Given the description of an element on the screen output the (x, y) to click on. 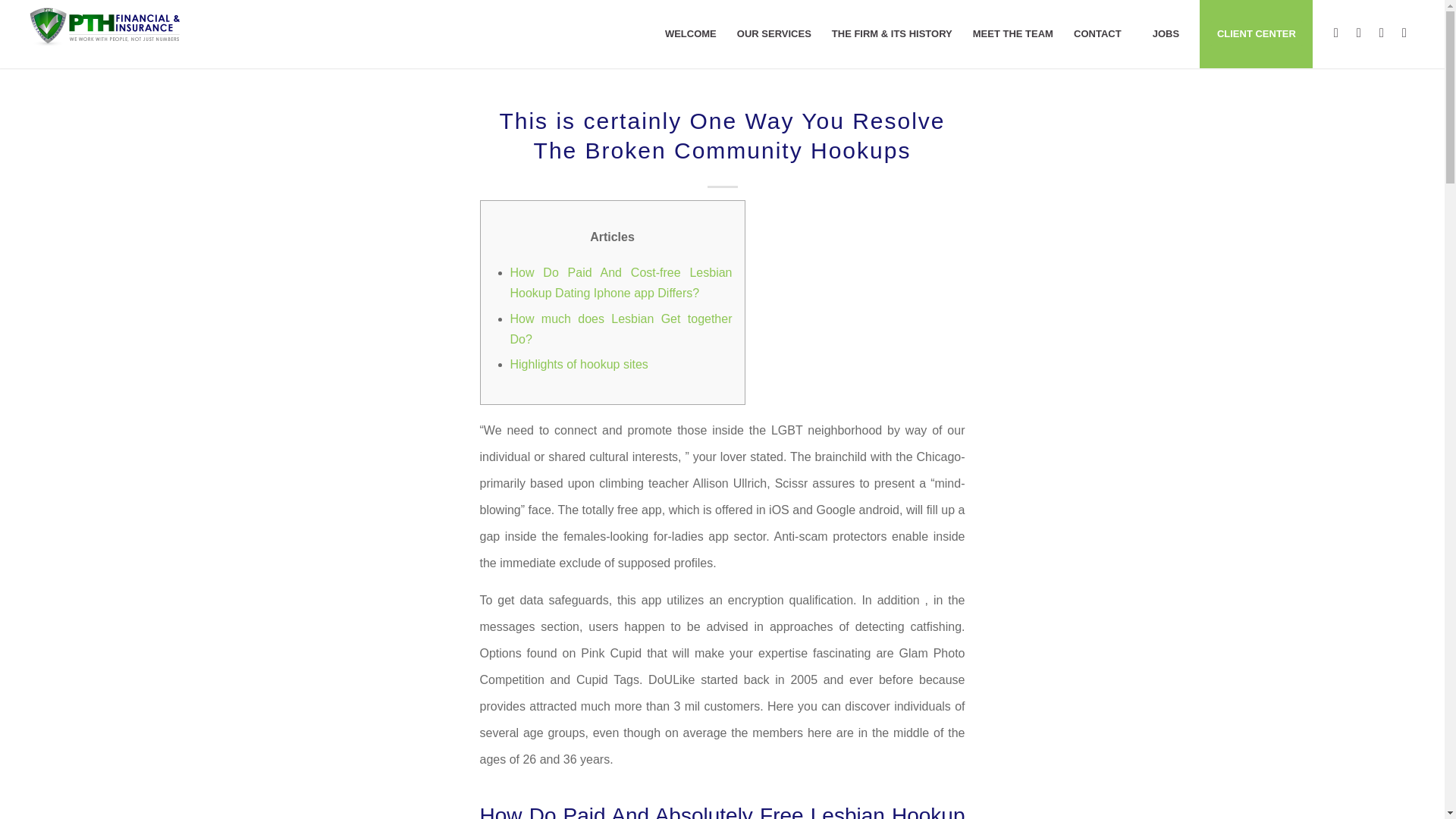
Mail (1404, 33)
OUR SERVICES (773, 33)
CLIENT CENTER (1256, 33)
CONTACT (1096, 33)
WELCOME (689, 33)
Highlights of hookup sites (578, 364)
LinkedIn (1381, 33)
Instagram (1359, 33)
Facebook (1336, 33)
How much does Lesbian Get together Do? (620, 328)
JOBS (1165, 33)
MEET THE TEAM (1012, 33)
